Given the description of an element on the screen output the (x, y) to click on. 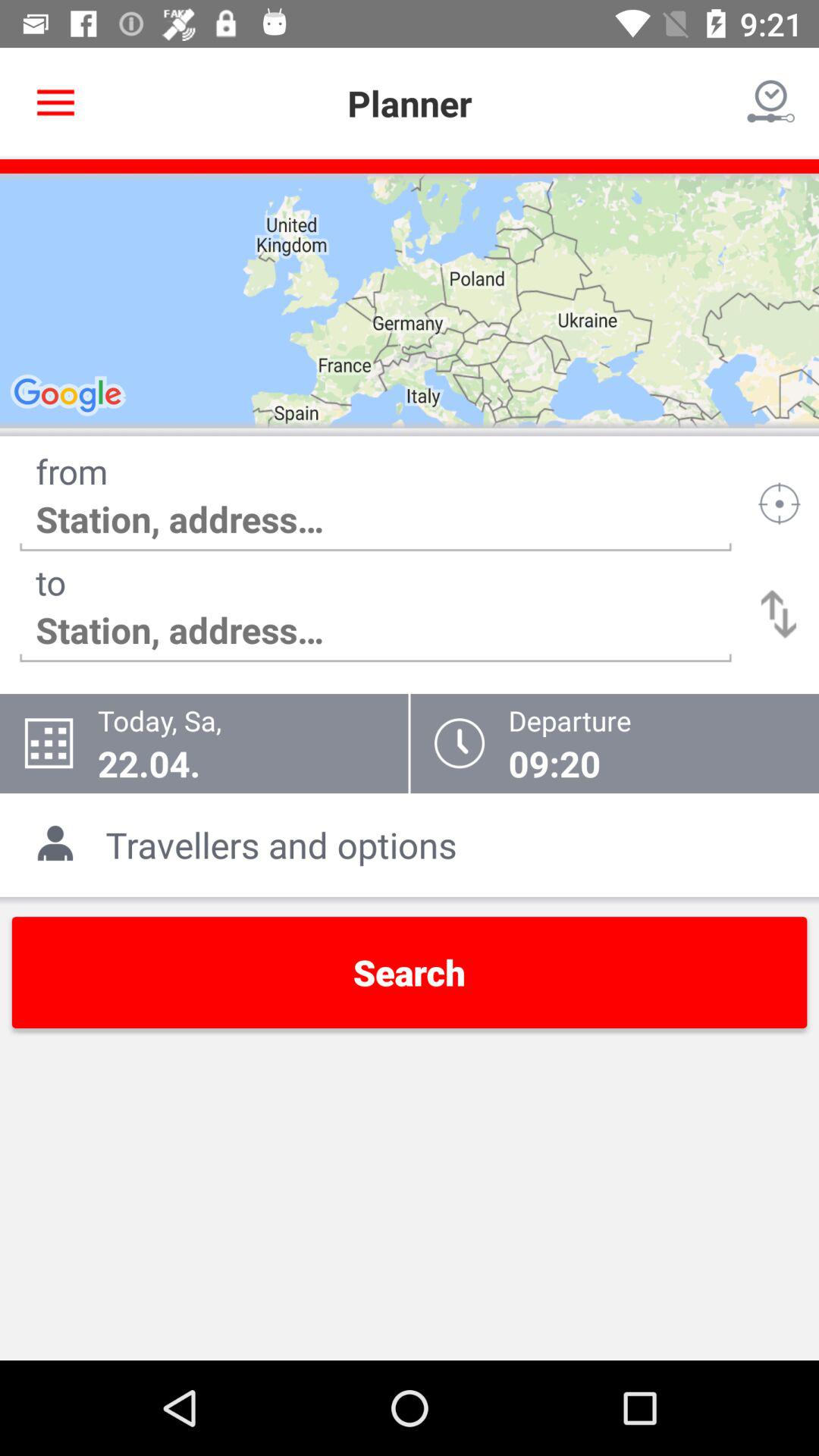
select text google on page (69, 395)
go to the blank below from (375, 519)
click on icon at the top right corner (771, 103)
select the icon which is left to todaysa (49, 742)
move to the text which is under the text to (375, 630)
select the icon which is left to the text travellers and options (60, 845)
